Given the description of an element on the screen output the (x, y) to click on. 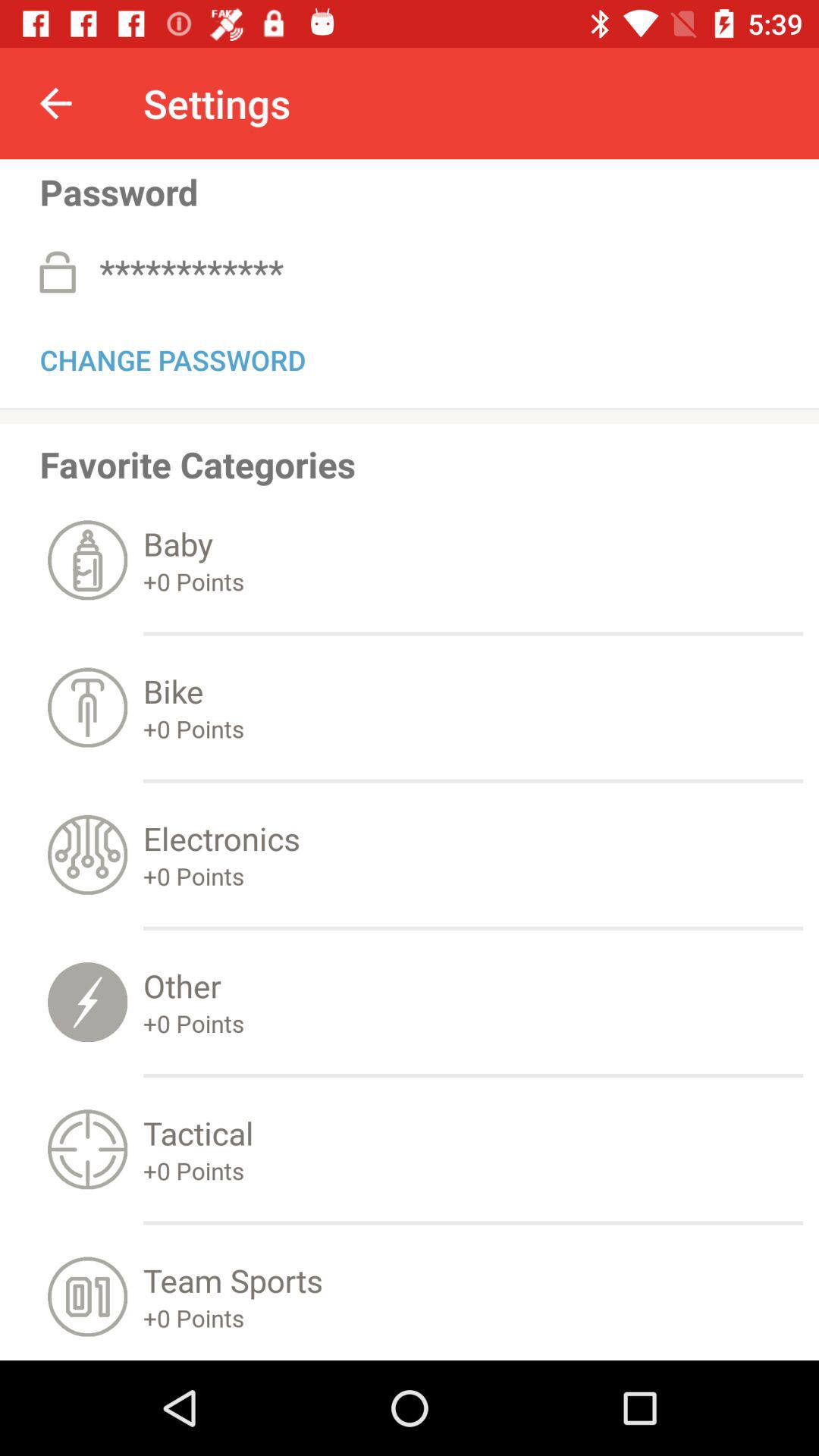
turn off change password item (172, 357)
